Given the description of an element on the screen output the (x, y) to click on. 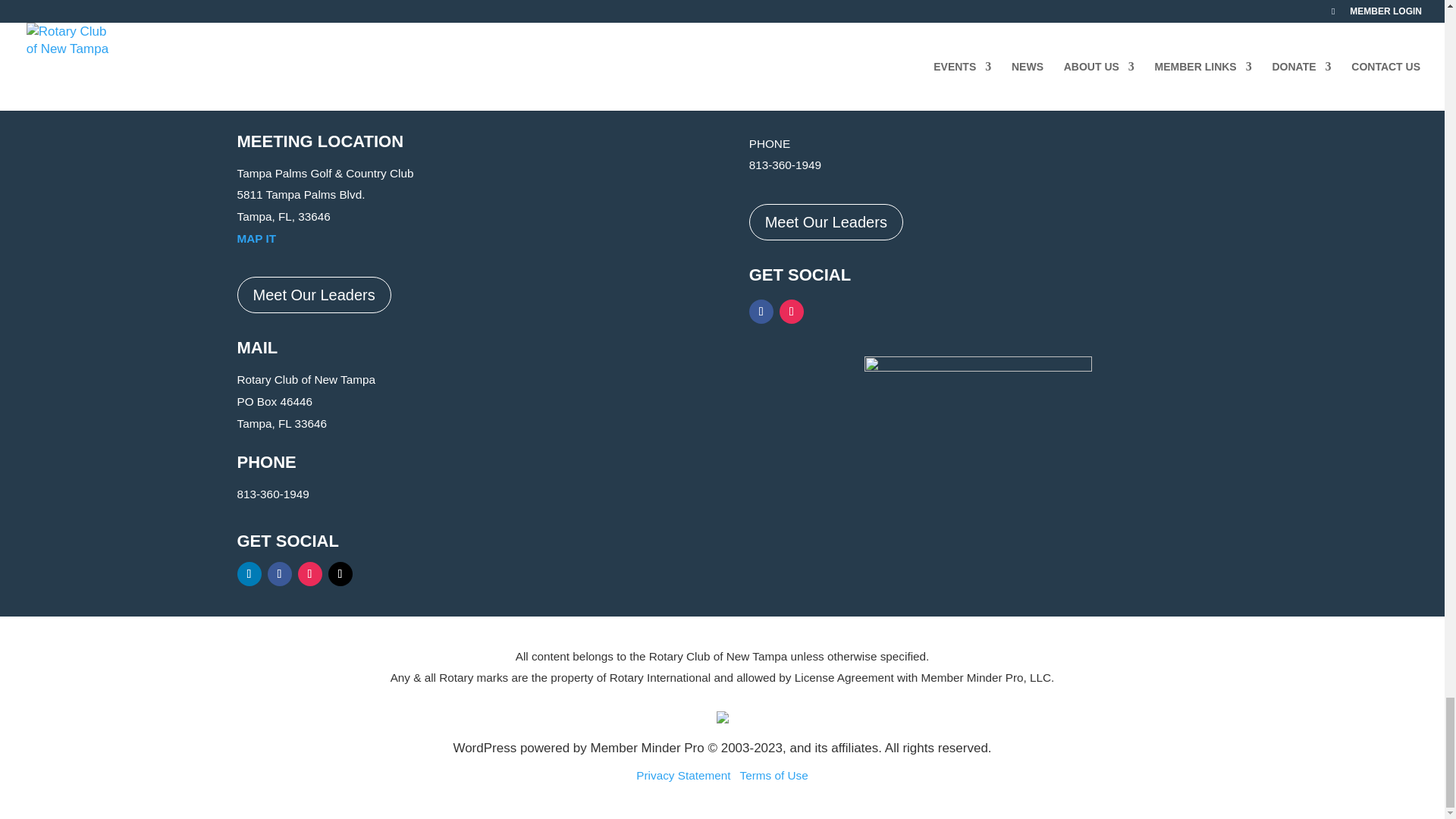
Follow on Instagram (309, 573)
Follow on X (339, 573)
Follow on LinkedIn (247, 573)
Follow on Instagram (790, 311)
Follow on Facebook (761, 311)
Follow on Facebook (278, 573)
